Given the description of an element on the screen output the (x, y) to click on. 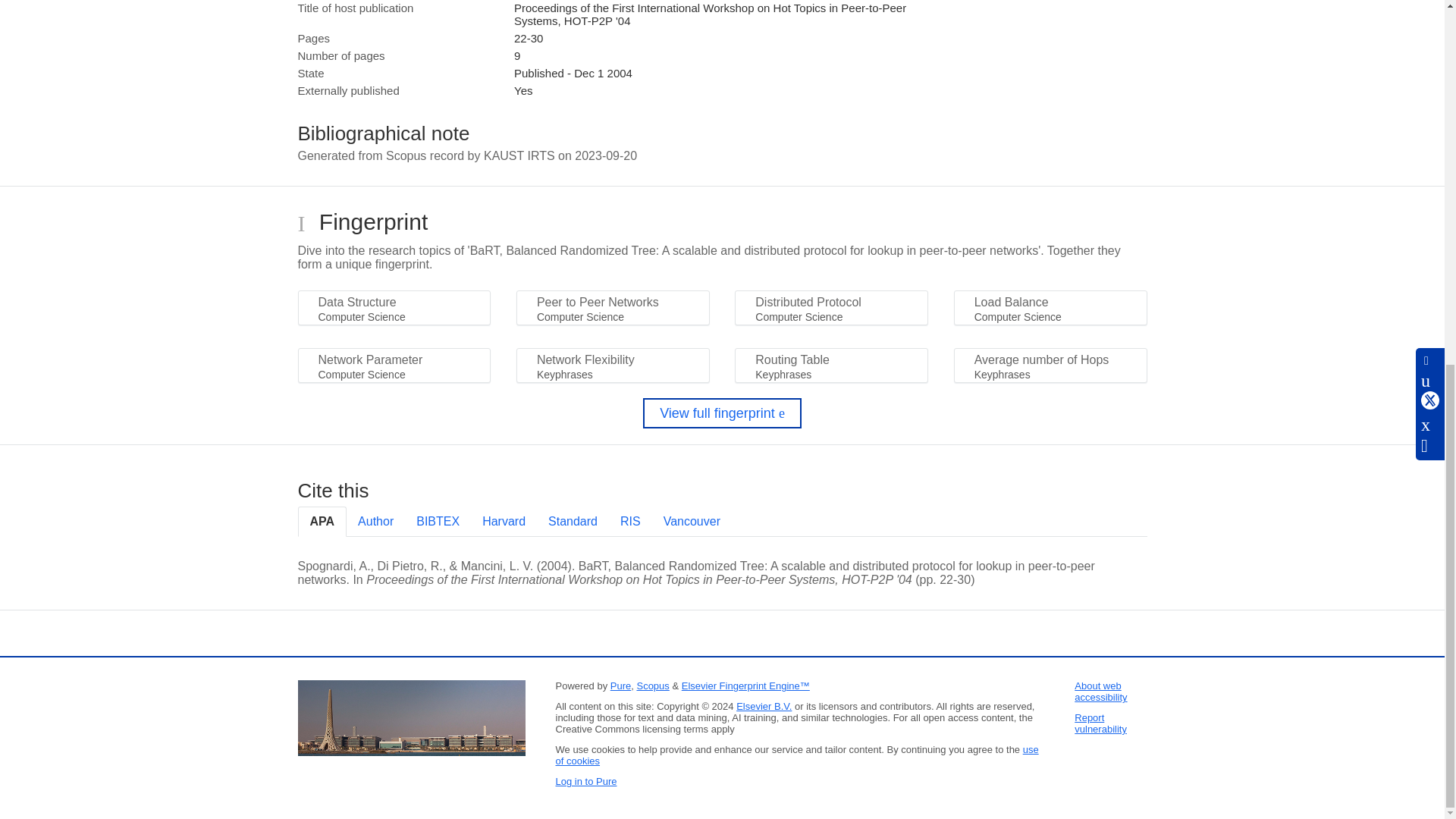
Pure (620, 685)
Scopus (652, 685)
use of cookies (796, 754)
Log in to Pure (584, 781)
View full fingerprint (722, 413)
Elsevier B.V. (764, 706)
